Given the description of an element on the screen output the (x, y) to click on. 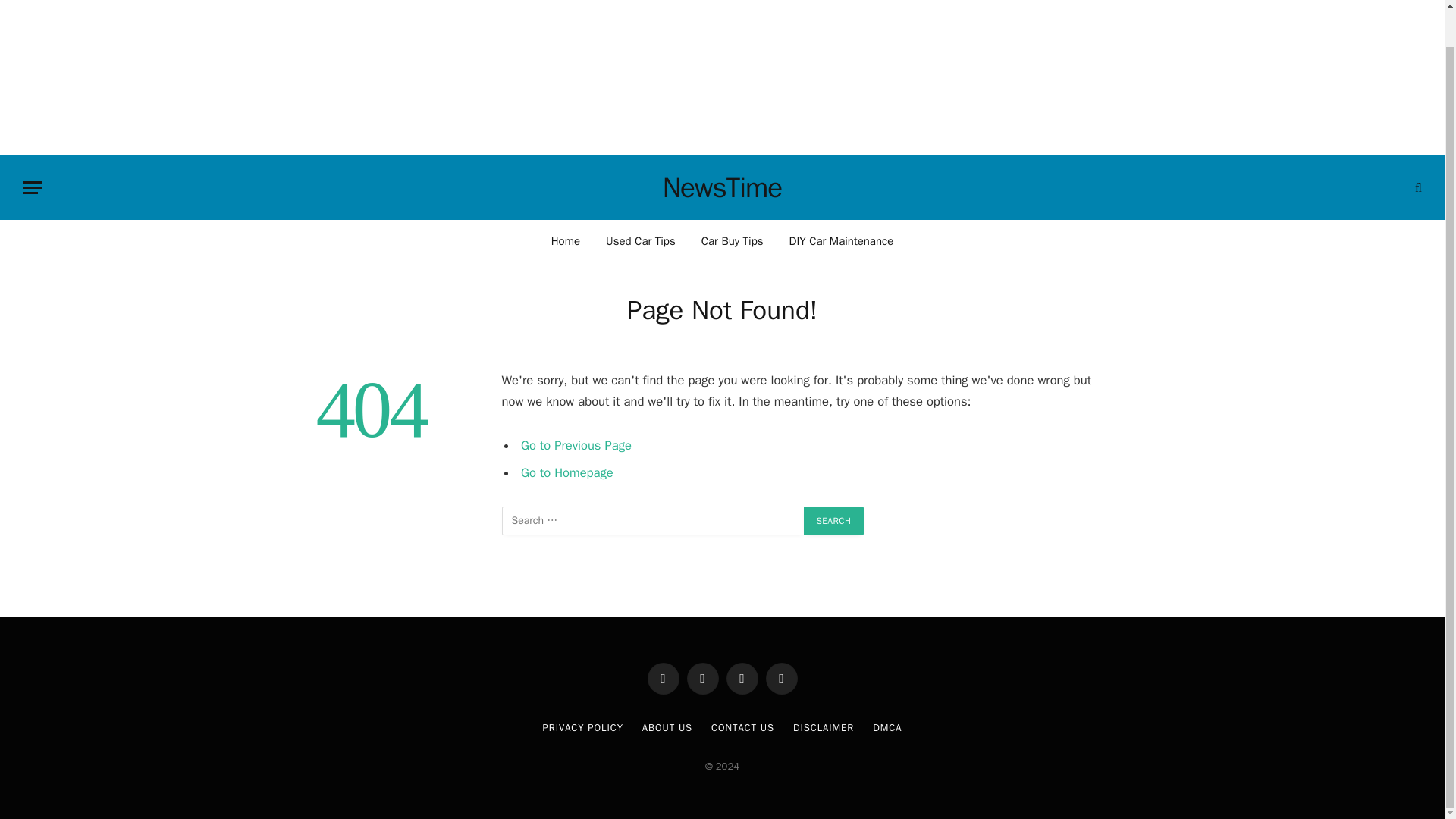
Search (833, 520)
Advertisement (721, 75)
PRIVACY POLICY (583, 727)
Home (565, 240)
Car Buy Tips (732, 240)
DIY Car Maintenance (841, 240)
CONTACT US (742, 727)
Used Car Tips (640, 240)
Instagram (742, 678)
NewsTime (722, 188)
Search (833, 520)
Search (1417, 187)
NewsTime (722, 188)
Go to Homepage (566, 472)
Pinterest (781, 678)
